Given the description of an element on the screen output the (x, y) to click on. 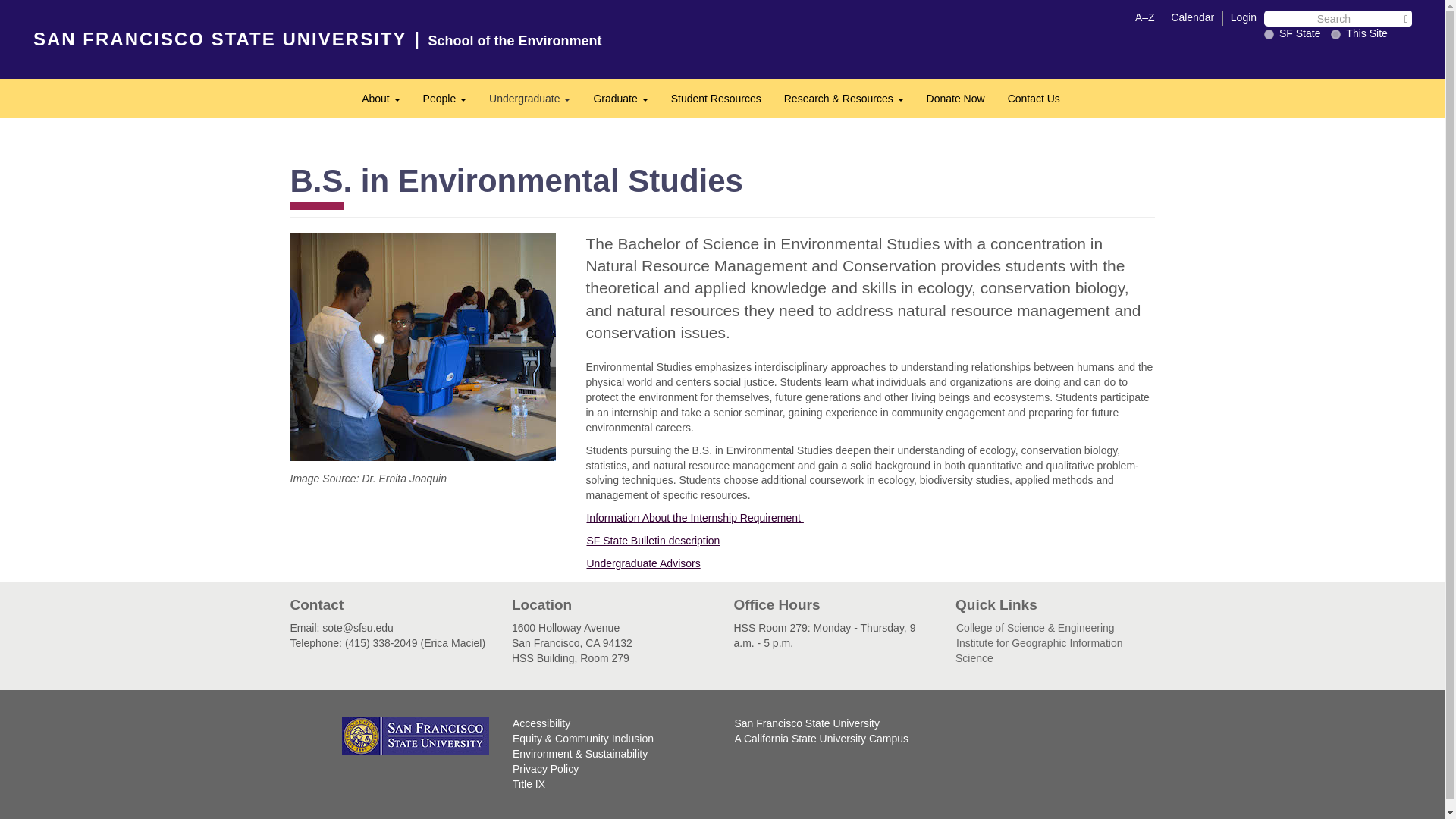
Student Resources (716, 98)
local (619, 98)
SAN FRANCISCO STATE UNIVERSITY (380, 98)
Login (1335, 34)
Skip to main content (219, 38)
Calendar (1243, 16)
School of the Environment (528, 98)
global (1192, 16)
